Given the description of an element on the screen output the (x, y) to click on. 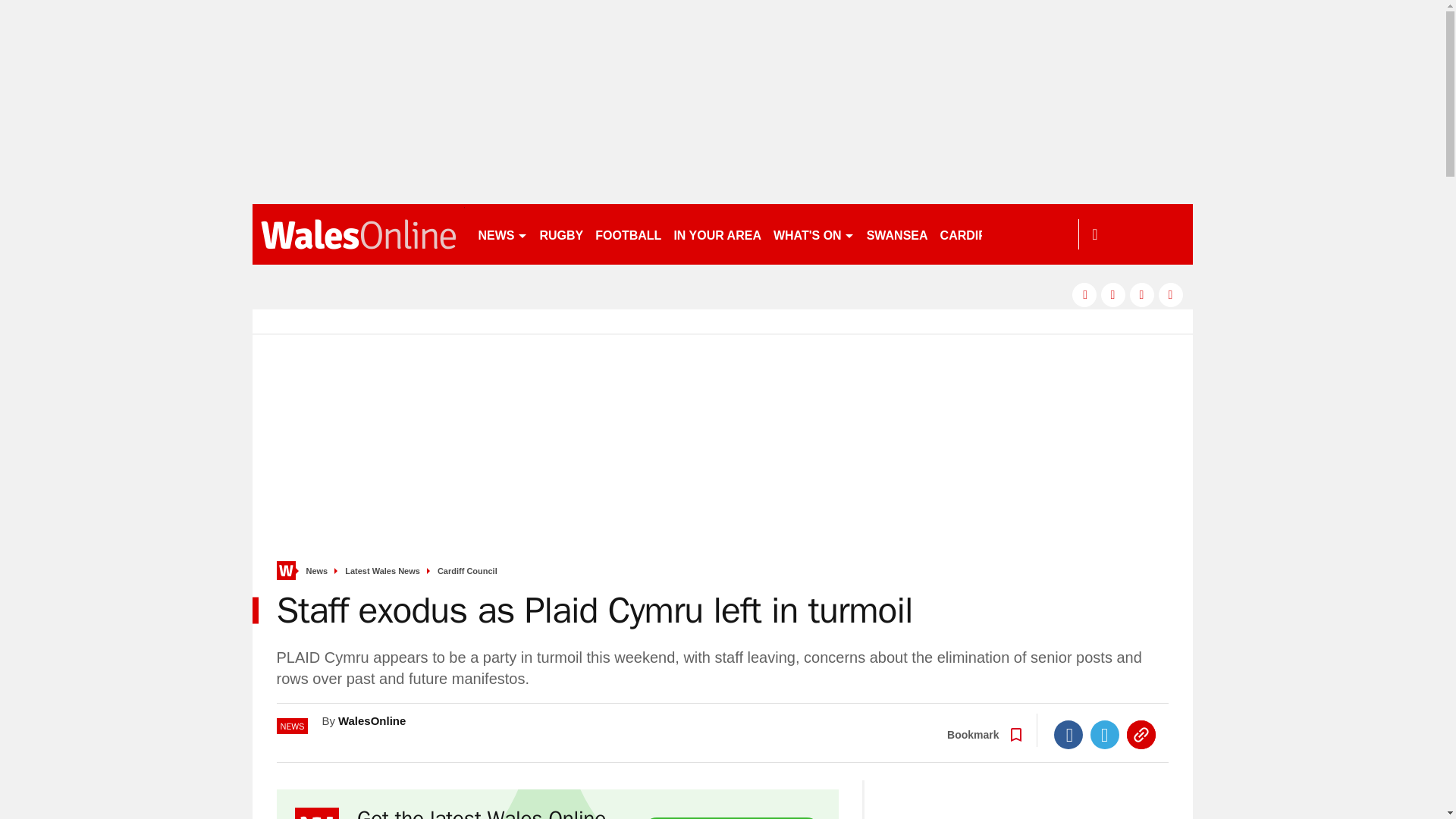
pinterest (1141, 294)
FOOTBALL (627, 233)
Twitter (1104, 734)
facebook (1083, 294)
IN YOUR AREA (716, 233)
instagram (1170, 294)
Facebook (1068, 734)
WHAT'S ON (813, 233)
twitter (1112, 294)
SWANSEA (897, 233)
NEWS (501, 233)
RUGBY (561, 233)
walesonline (357, 233)
